Given the description of an element on the screen output the (x, y) to click on. 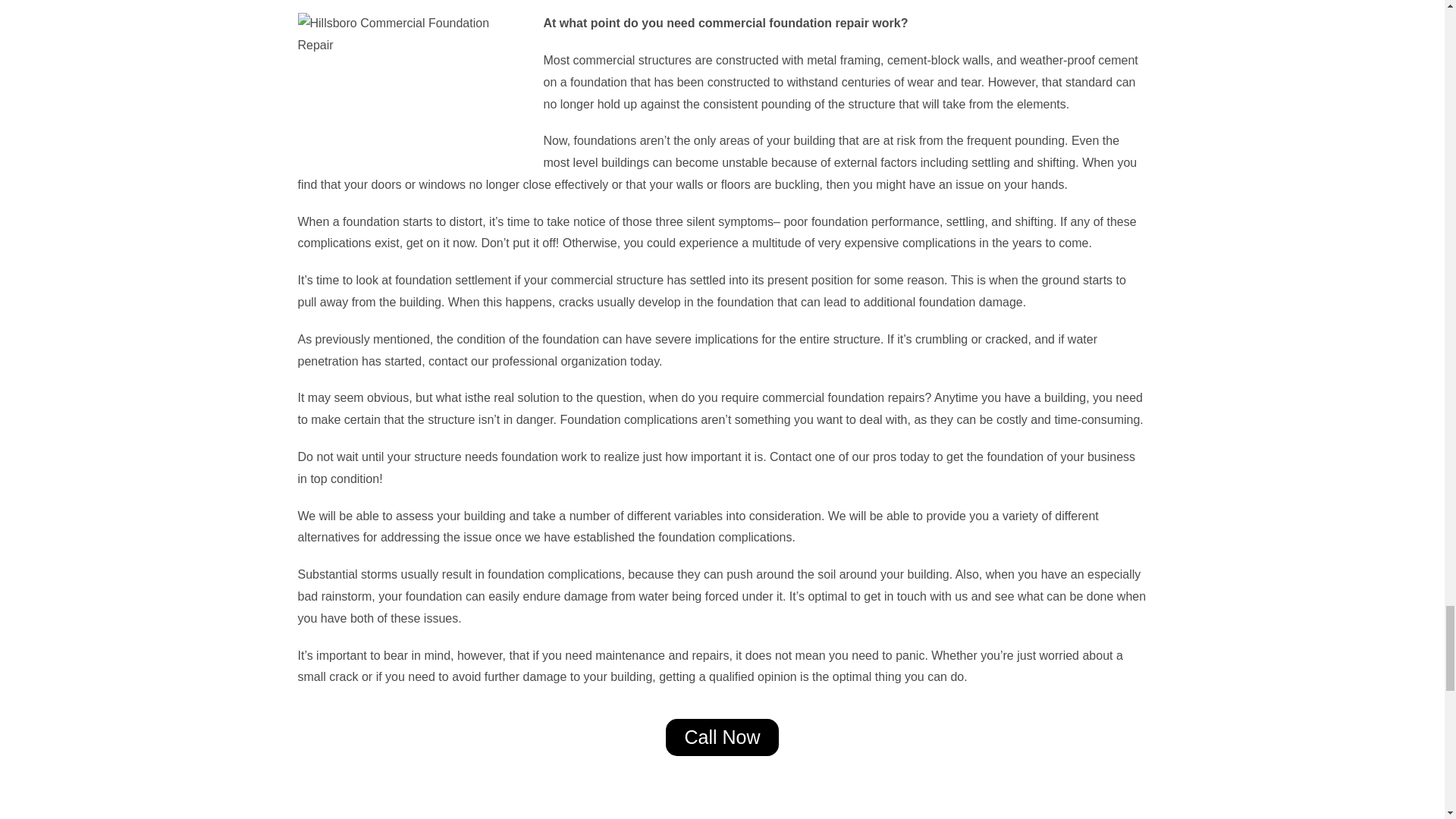
Call Now (721, 737)
